Given the description of an element on the screen output the (x, y) to click on. 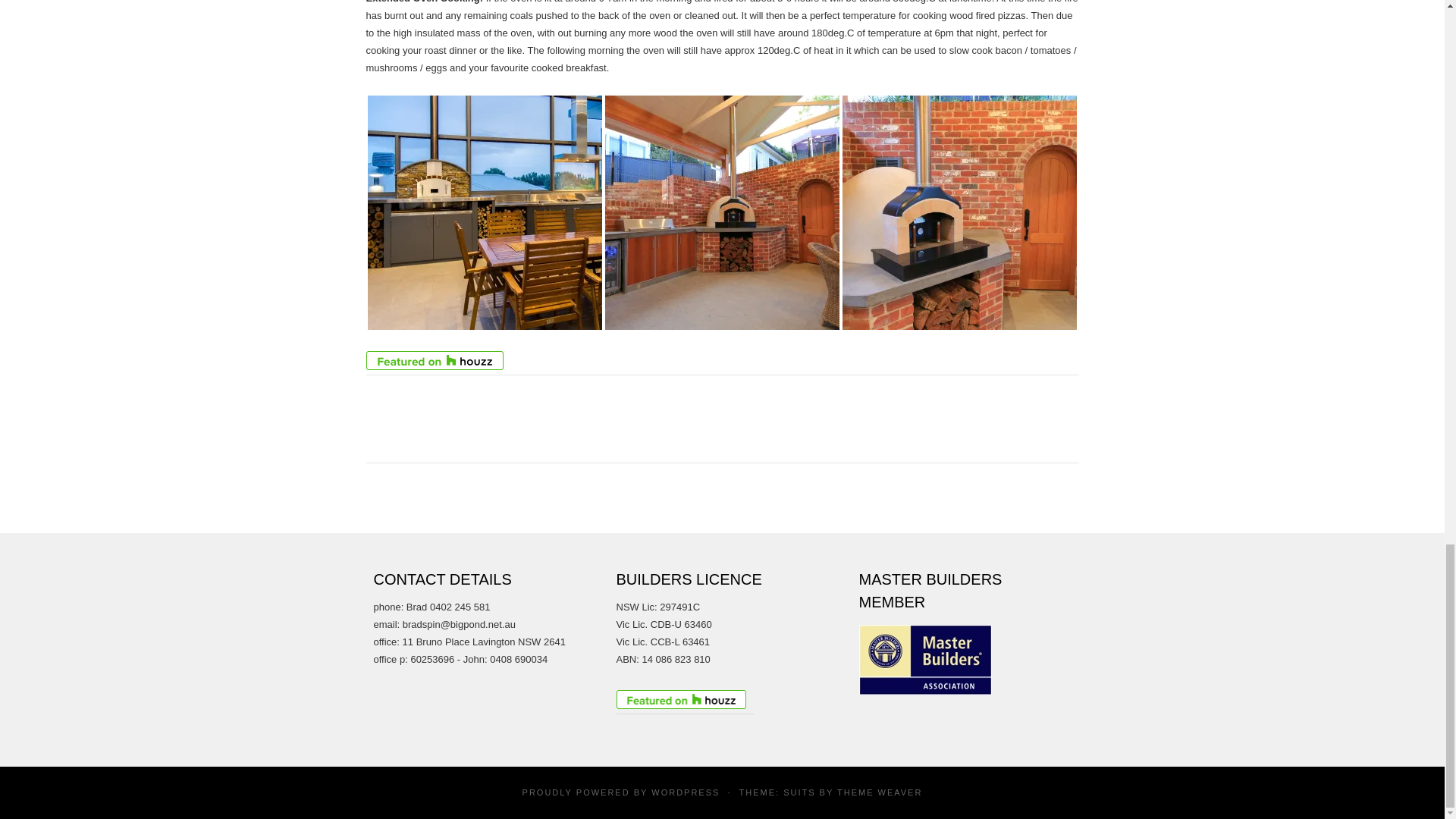
Inbuilt BBQ (722, 212)
Theme Developer (879, 791)
THEME WEAVER (879, 791)
Dome Pizza Oven (958, 212)
Semantic Personal Publishing Platform (684, 791)
WORDPRESS (684, 791)
Wood Fired Oven inside Alfresco (483, 212)
